Given the description of an element on the screen output the (x, y) to click on. 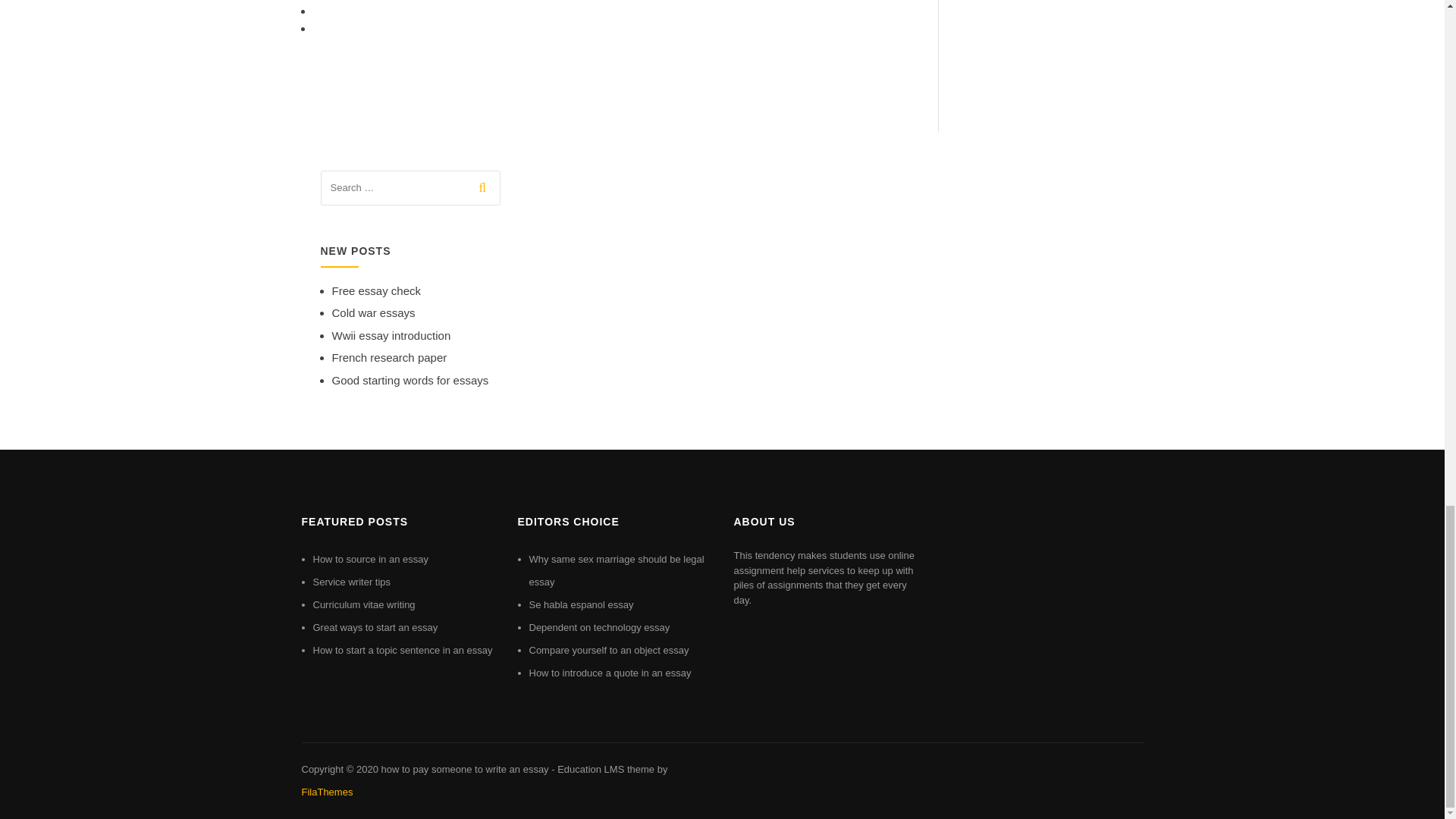
Se habla espanol essay (581, 604)
Service writer tips (351, 582)
Curriculum vitae writing (363, 604)
Great ways to start an essay (375, 627)
Why same sex marriage should be legal essay (616, 570)
Cold war essays (372, 312)
Wwii essay introduction (391, 335)
How to source in an essay (370, 559)
How to start a topic sentence in an essay (402, 650)
Good starting words for essays (410, 379)
Dependent on technology essay (599, 627)
Free essay check (376, 290)
French research paper (388, 357)
how to pay someone to write an essay (464, 768)
Compare yourself to an object essay (608, 650)
